Given the description of an element on the screen output the (x, y) to click on. 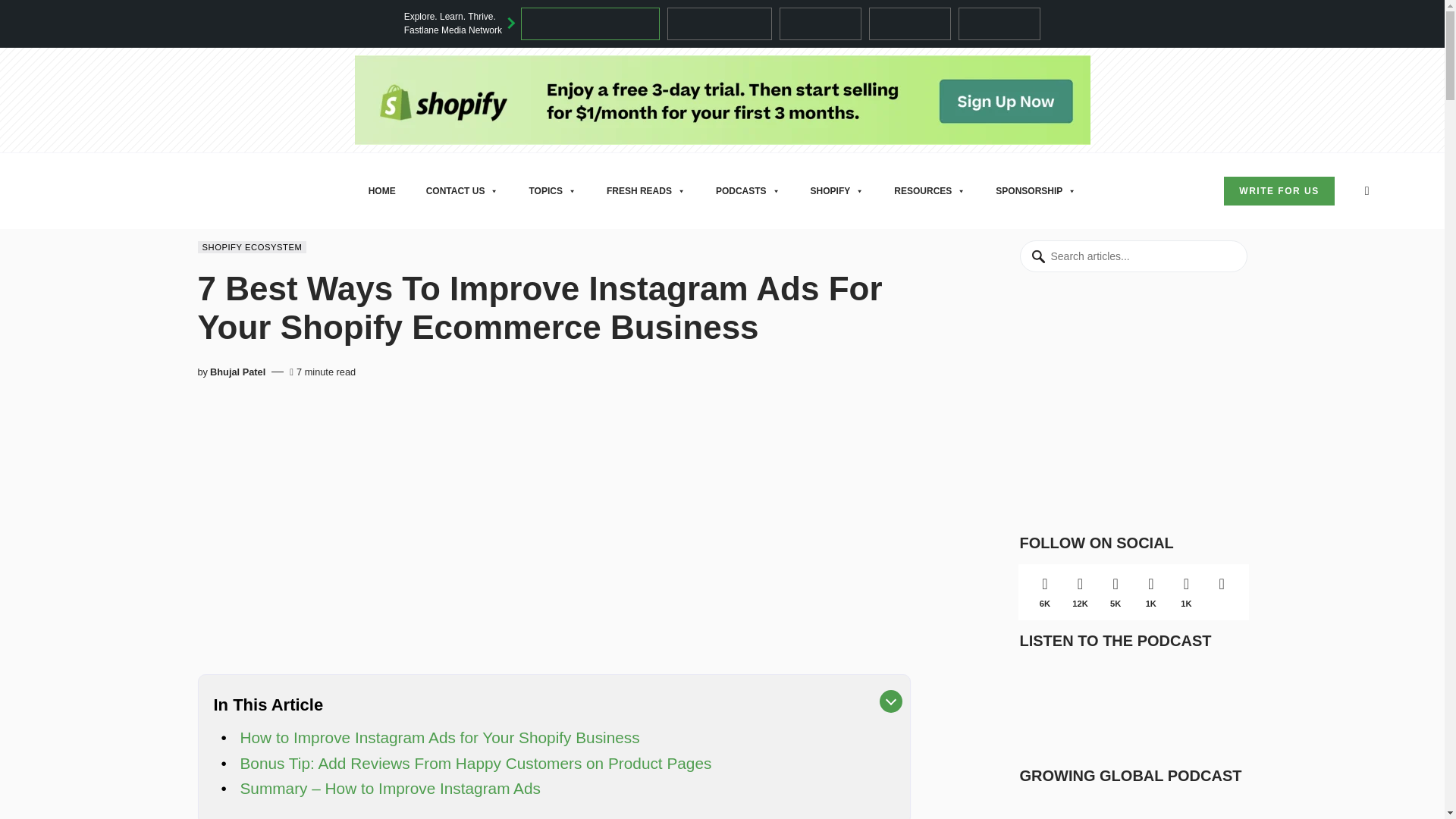
View all posts by Bhujal Patel (236, 371)
Bonus Tip: Add Reviews From Happy Customers on Product Pages (475, 763)
How to Improve Instagram Ads for Your Shopify Business (439, 737)
